Given the description of an element on the screen output the (x, y) to click on. 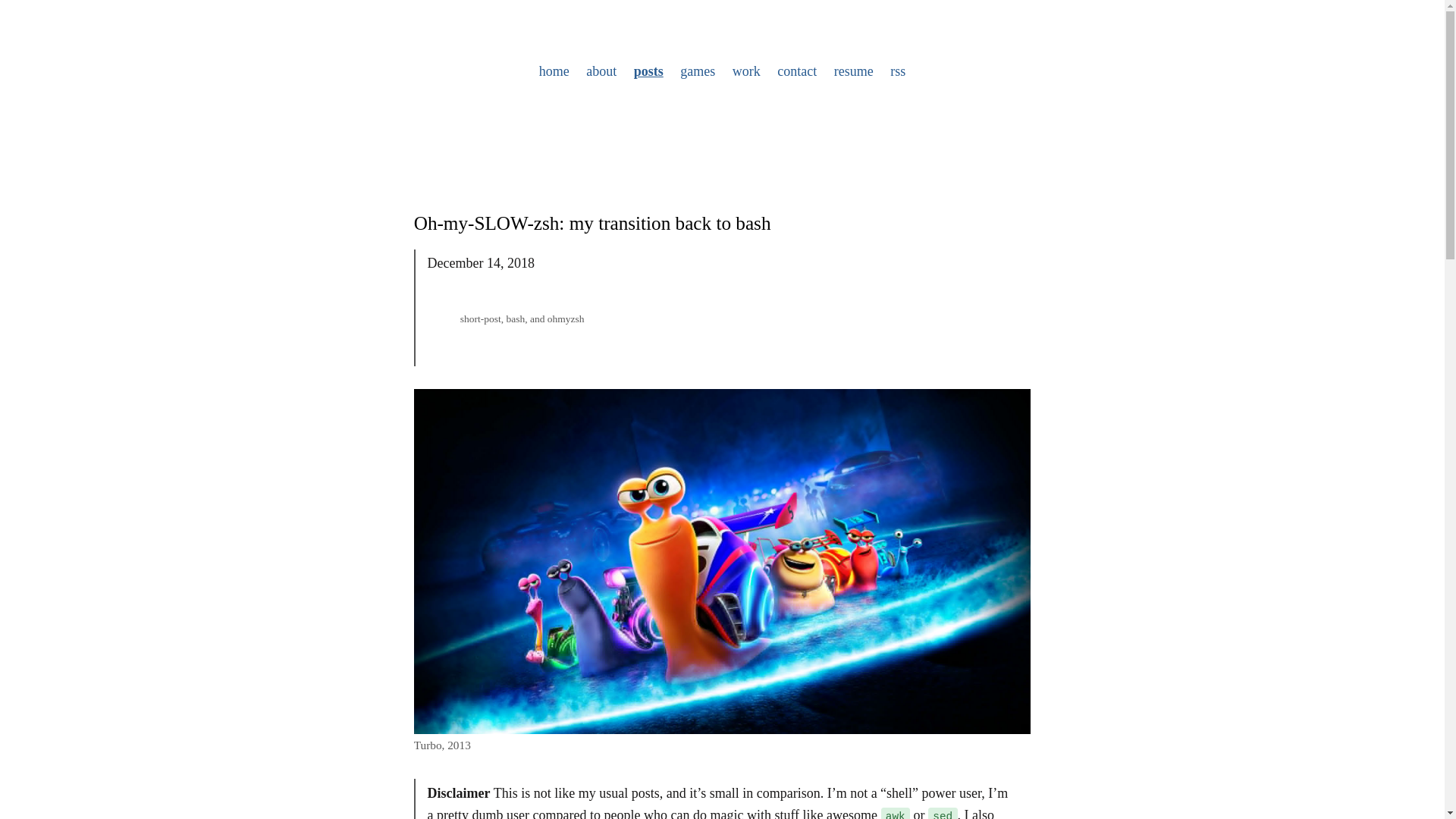
games (696, 70)
contact (796, 70)
resume (853, 70)
work (746, 70)
posts (648, 70)
about (600, 70)
home (553, 70)
rss (897, 70)
